Given the description of an element on the screen output the (x, y) to click on. 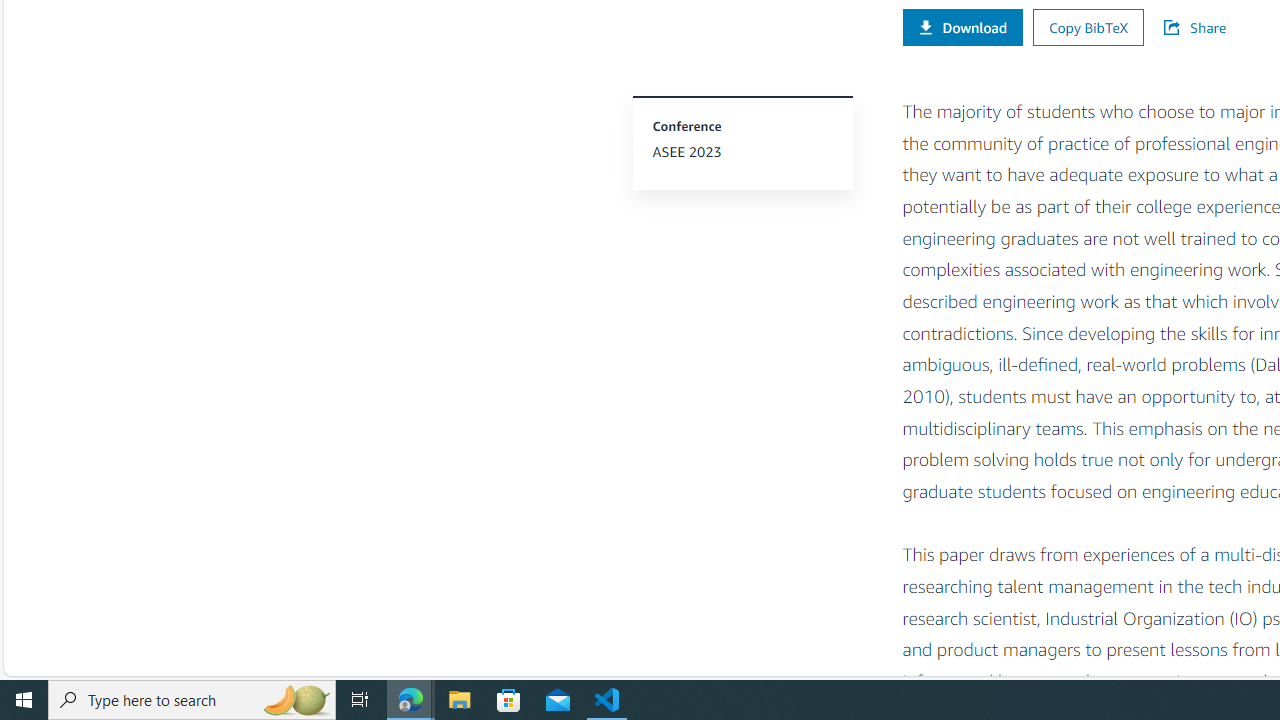
Copy BibTeX (1088, 26)
ASEE 2023 (742, 152)
Share (1204, 27)
Download (962, 26)
